Given the description of an element on the screen output the (x, y) to click on. 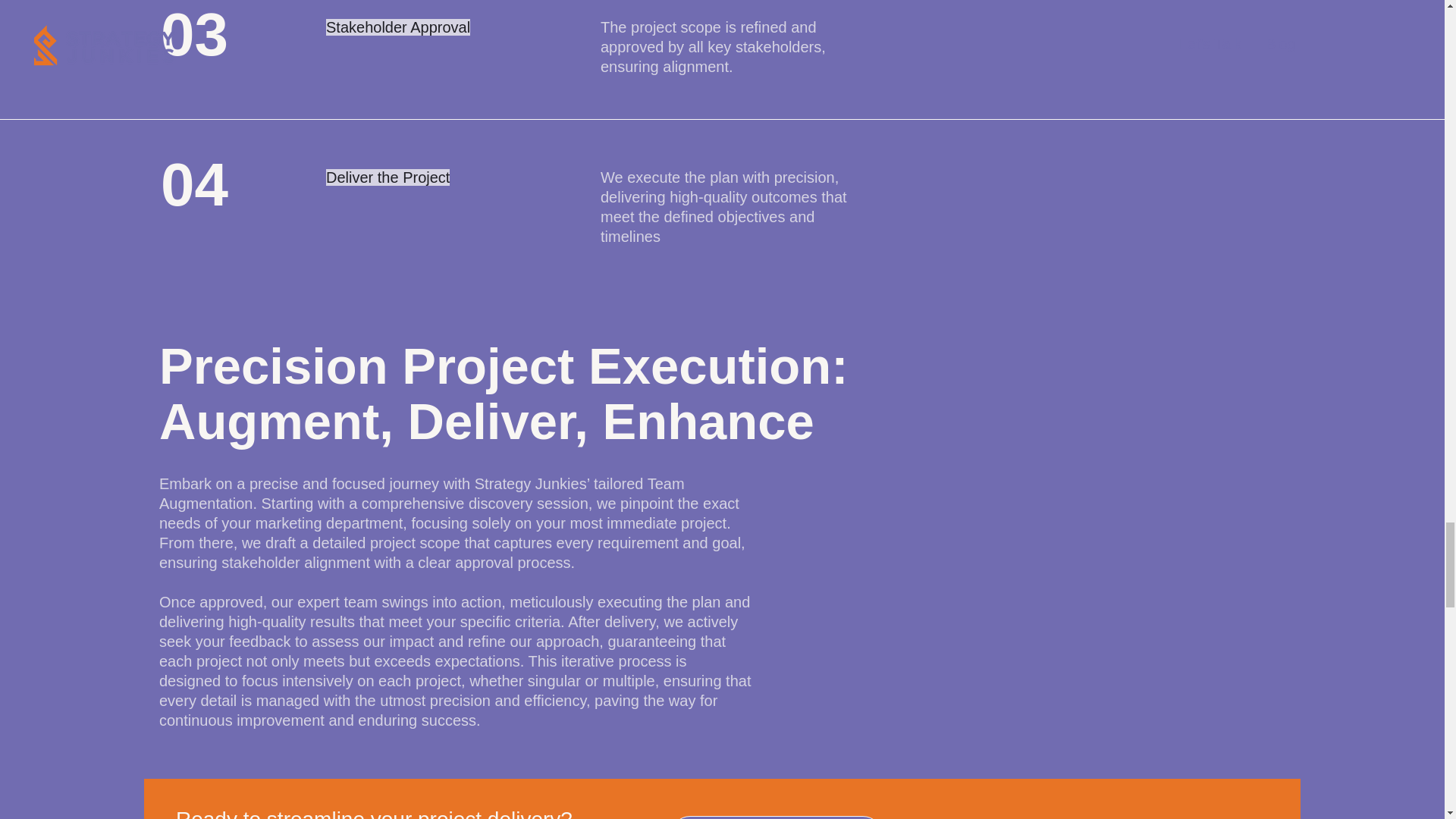
Kickstart Your Project (775, 817)
